Given the description of an element on the screen output the (x, y) to click on. 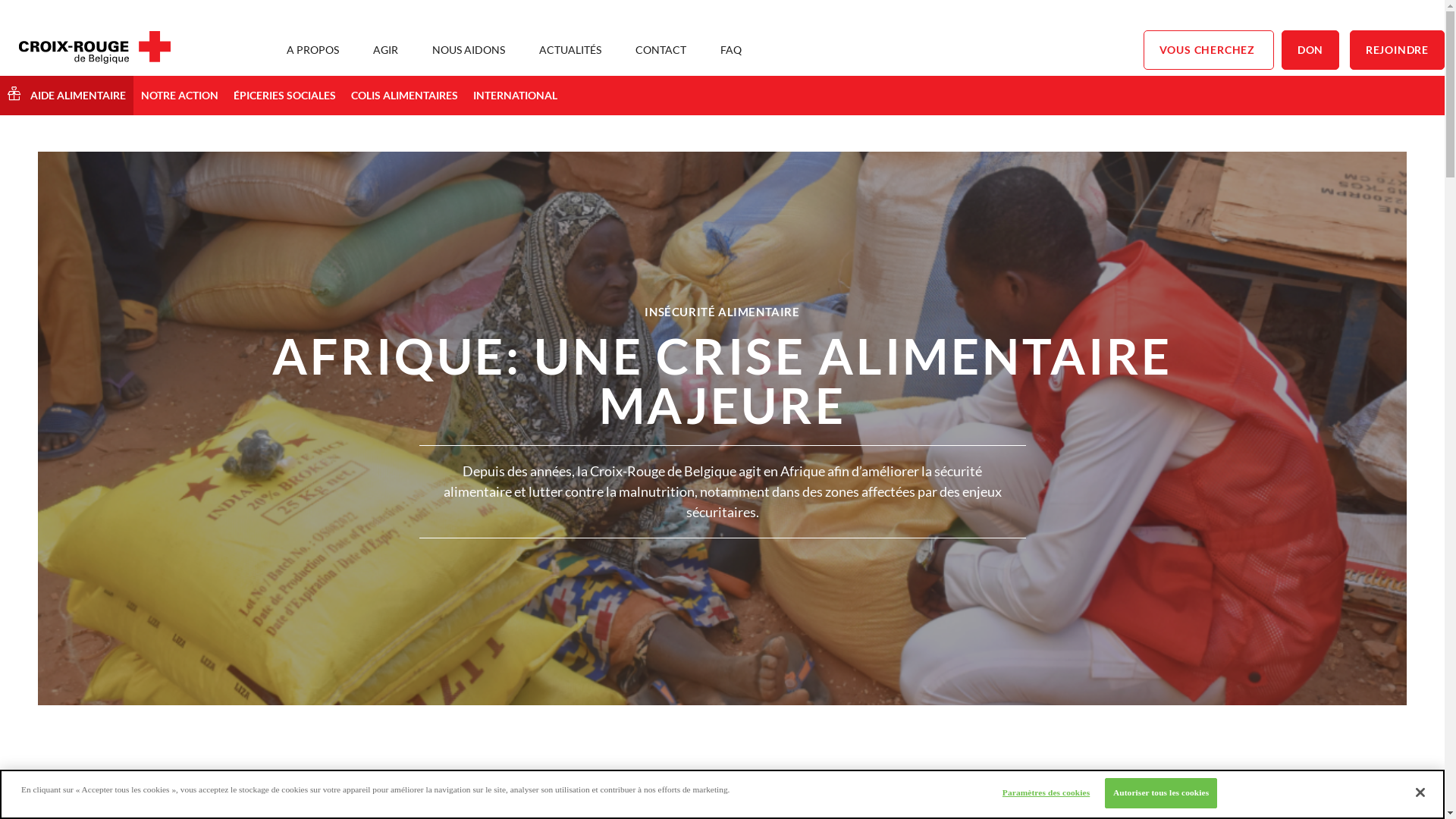
REJOINDRE Element type: text (1396, 49)
NOUS AIDONS Element type: text (468, 49)
A PROPOS Element type: text (312, 49)
AGIR Element type: text (385, 49)
CONTACT Element type: text (660, 49)
DON Element type: text (1310, 49)
AIDE ALIMENTAIRE Element type: text (66, 95)
INTERNATIONAL Element type: text (514, 95)
Autoriser tous les cookies Element type: text (1160, 793)
COLIS ALIMENTAIRES Element type: text (404, 95)
VOUS CHERCHEZ Element type: text (1208, 49)
NOTRE ACTION Element type: text (179, 95)
FAQ Element type: text (730, 49)
